Given the description of an element on the screen output the (x, y) to click on. 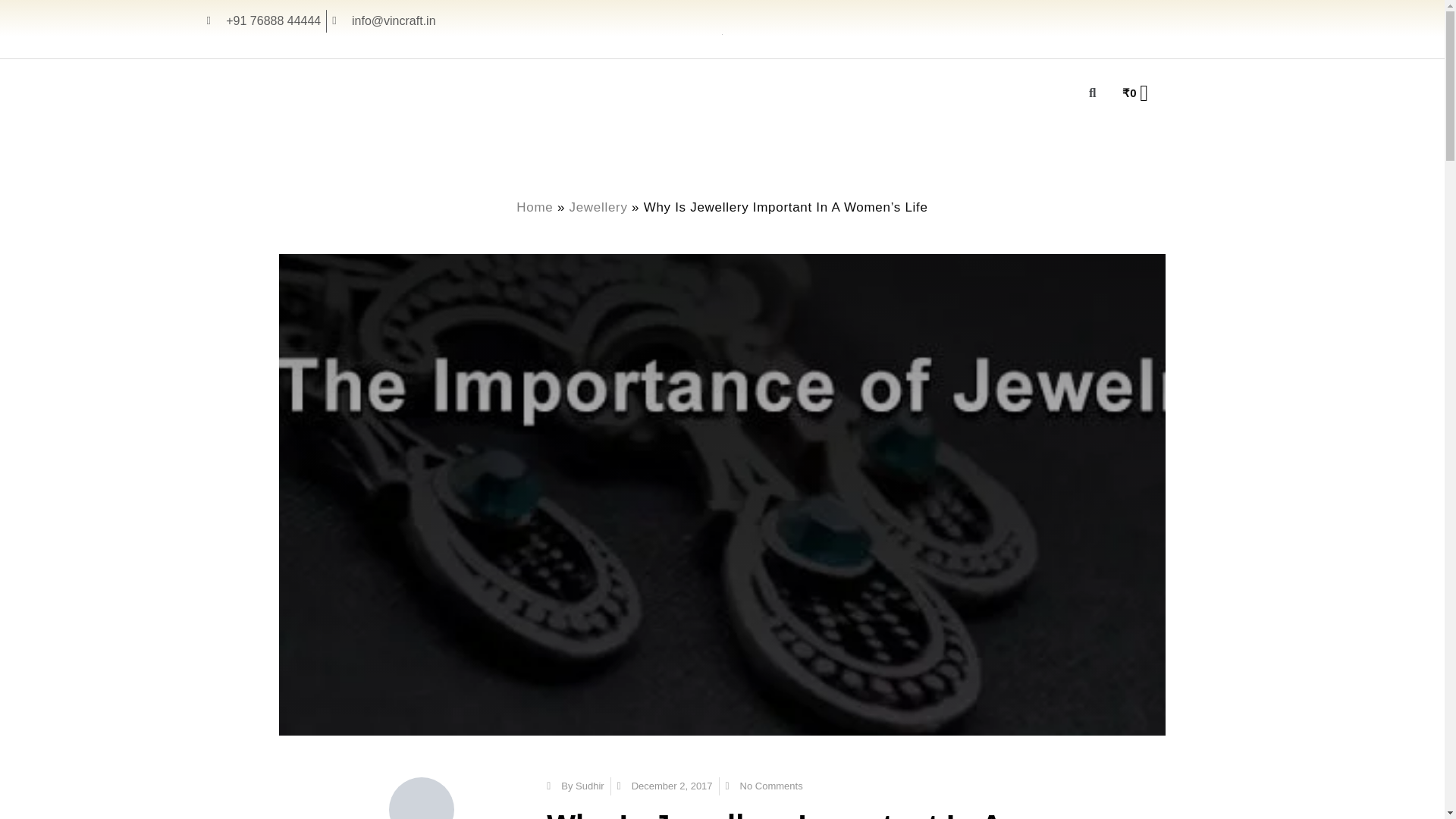
By Sudhir (575, 786)
Home (534, 206)
Jewellery (598, 206)
December 2, 2017 (665, 786)
No Comments (764, 786)
